Given the description of an element on the screen output the (x, y) to click on. 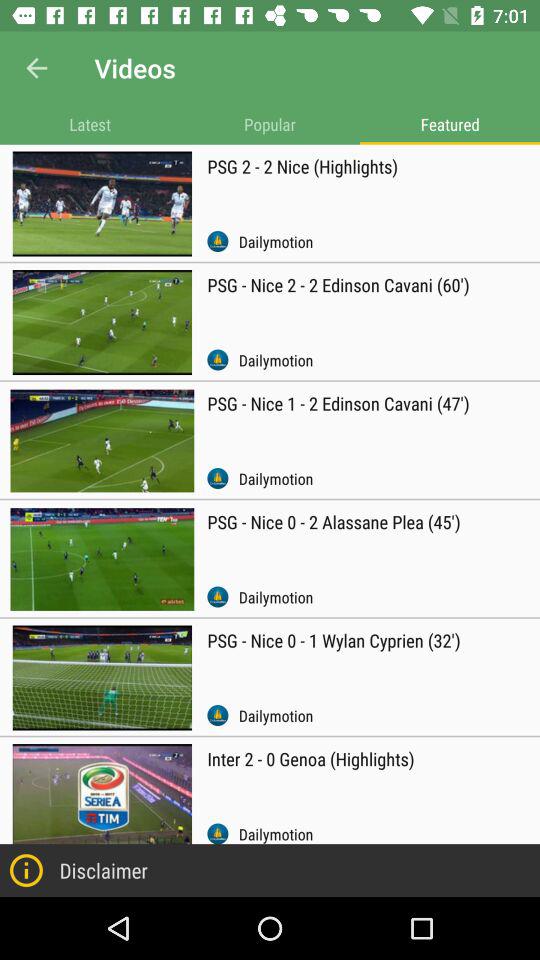
tap the app next to latest icon (270, 124)
